Given the description of an element on the screen output the (x, y) to click on. 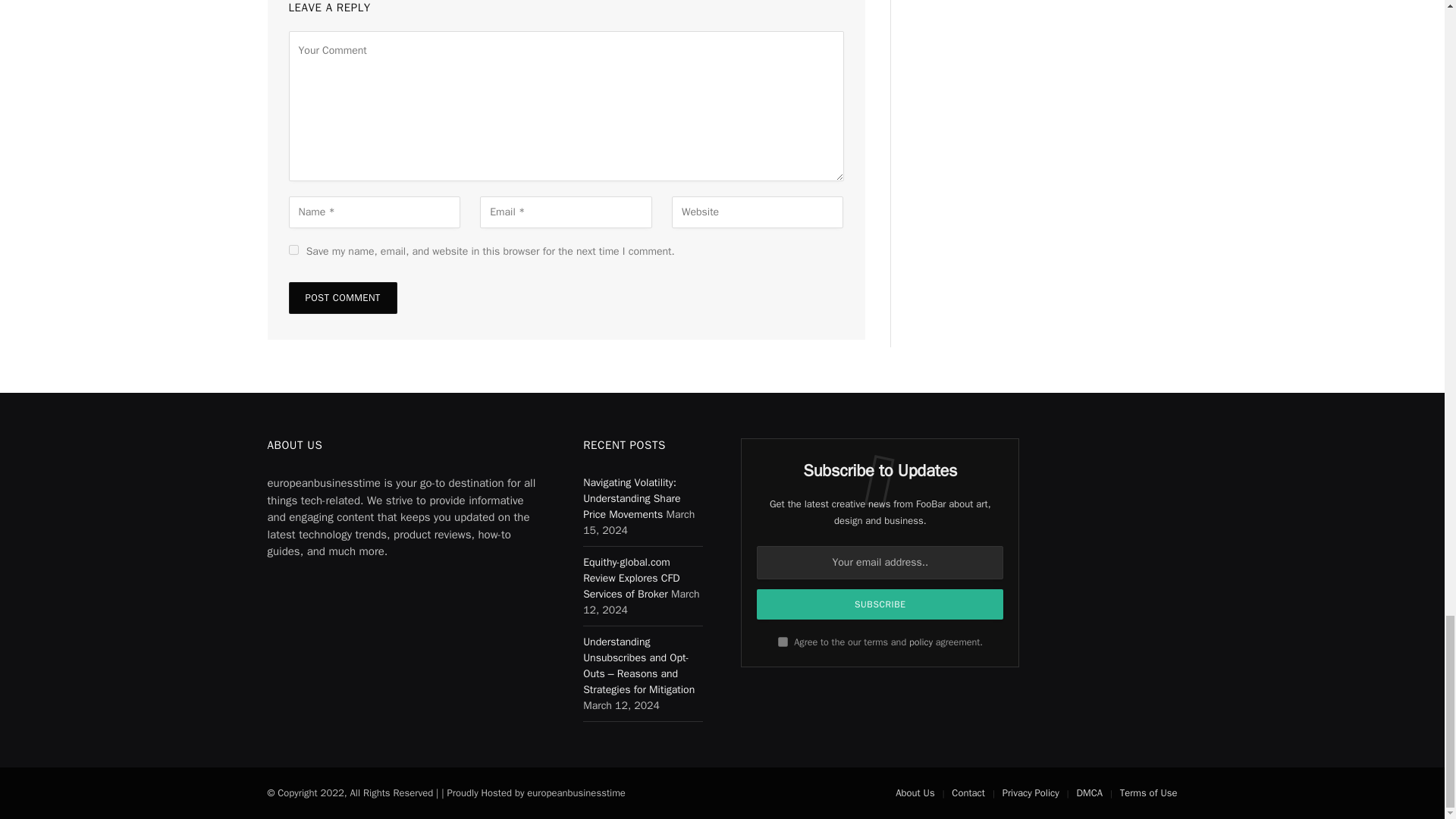
Subscribe (880, 603)
Post Comment (342, 297)
yes (293, 249)
Post Comment (342, 297)
on (782, 642)
